Given the description of an element on the screen output the (x, y) to click on. 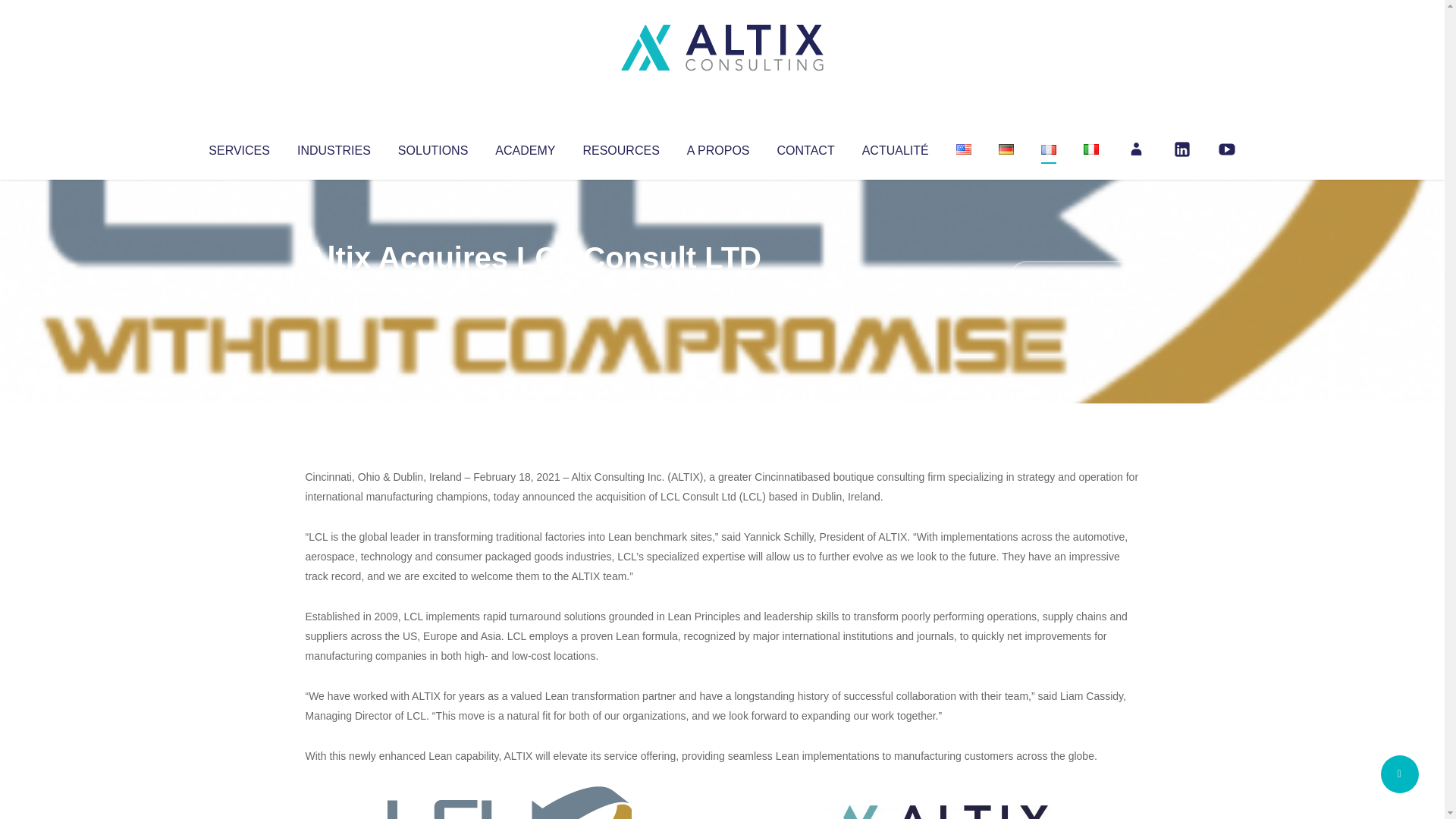
A PROPOS (718, 146)
INDUSTRIES (334, 146)
Articles par Altix (333, 287)
Altix (333, 287)
SOLUTIONS (432, 146)
No Comments (1073, 278)
RESOURCES (620, 146)
SERVICES (238, 146)
Uncategorized (530, 287)
ACADEMY (524, 146)
